Given the description of an element on the screen output the (x, y) to click on. 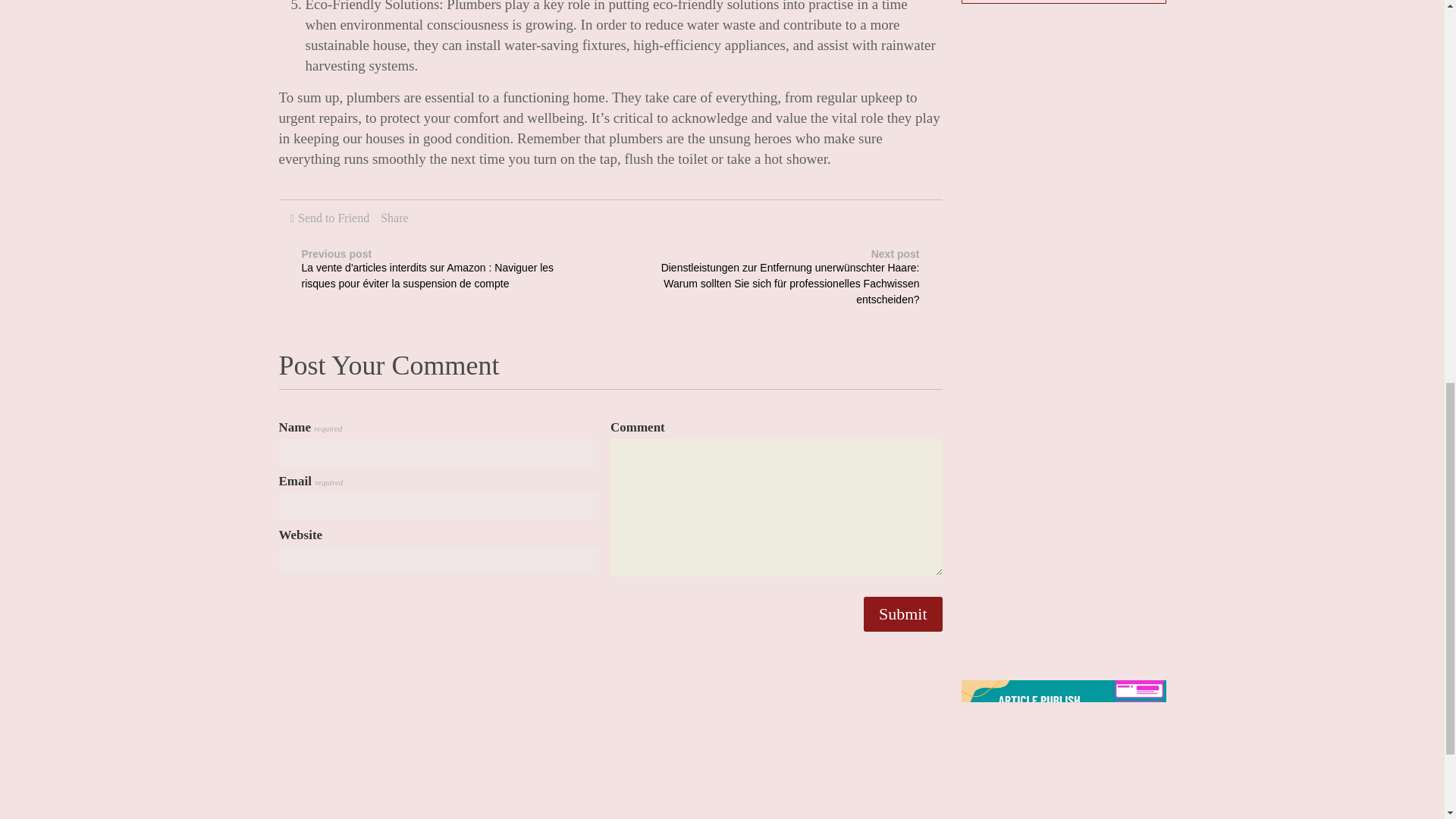
Submit (902, 614)
Send to Friend (333, 217)
Share (393, 217)
Submit (902, 614)
